Given the description of an element on the screen output the (x, y) to click on. 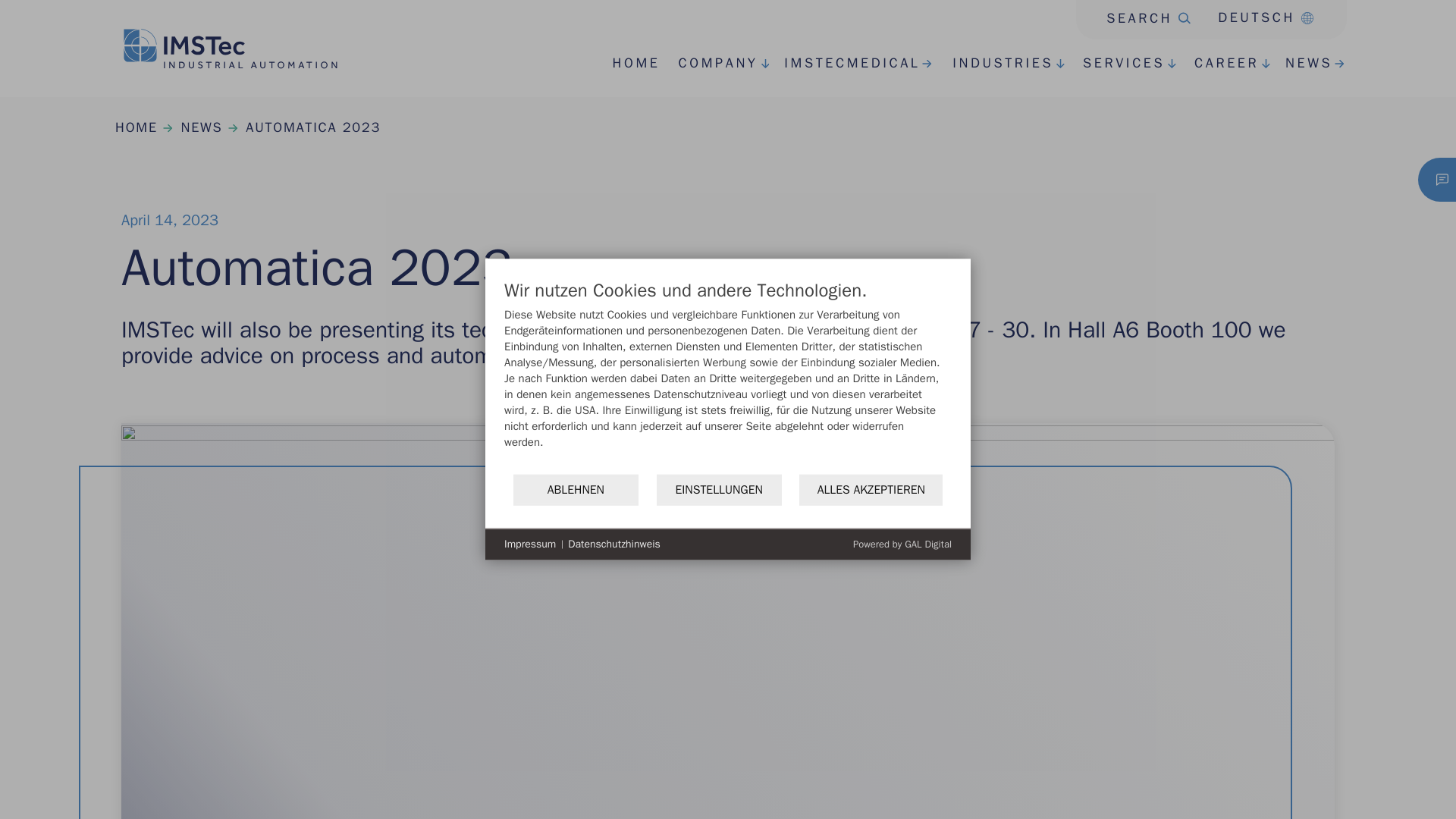
NEWS (1300, 63)
HOME (628, 63)
SERVICES (1114, 63)
DEUTSCH (971, 75)
Automatica 2023 (1259, 18)
Cookie Consent Manager (313, 127)
COMPANY (902, 543)
SEARCH (708, 63)
CAREER (1133, 13)
